Given the description of an element on the screen output the (x, y) to click on. 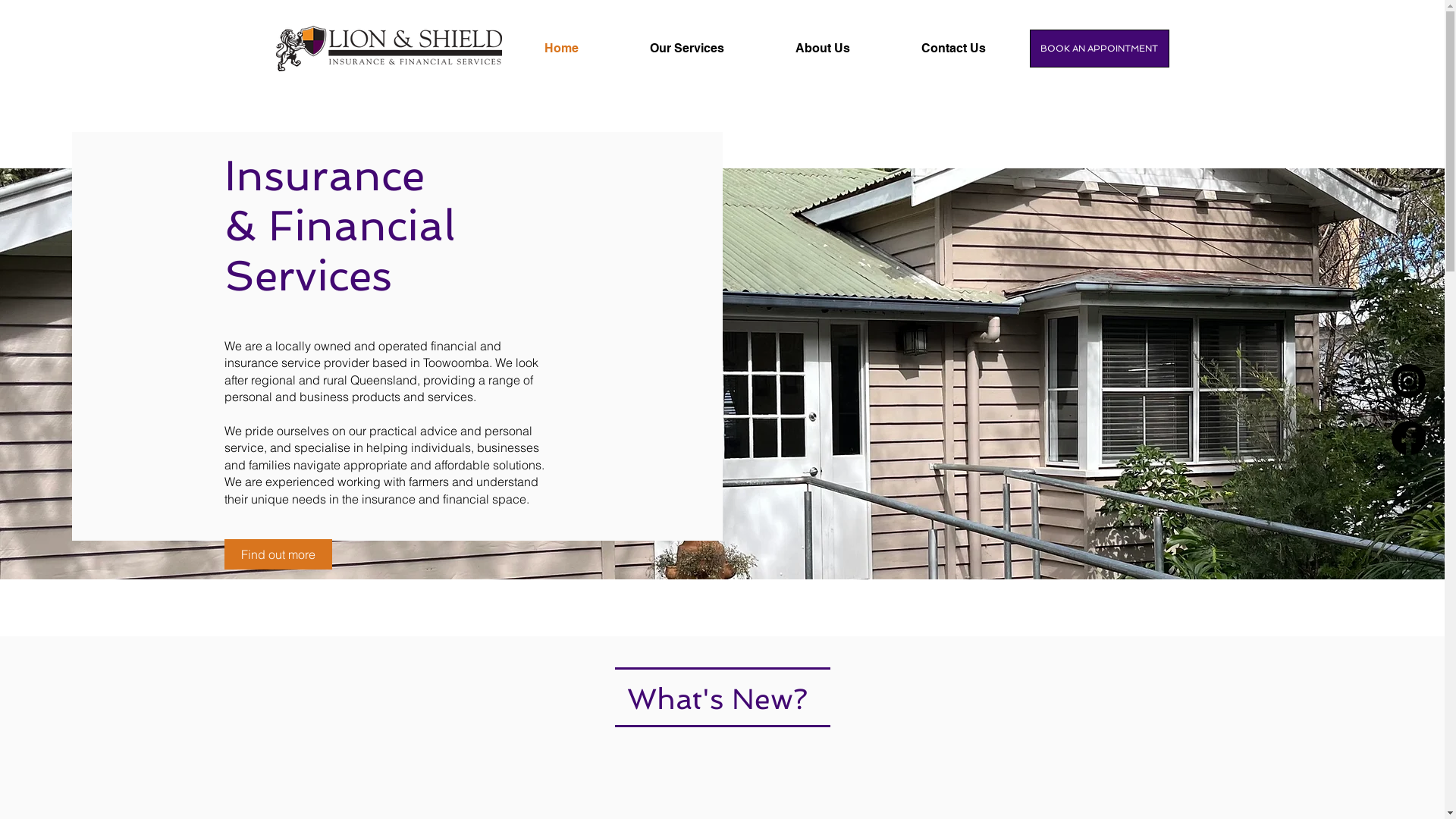
BOOK AN APPOINTMENT Element type: text (1099, 48)
Contact Us Element type: text (977, 48)
Home Element type: text (584, 48)
Find out more Element type: text (278, 554)
About Us Element type: text (847, 48)
Our Services Element type: text (711, 48)
